Given the description of an element on the screen output the (x, y) to click on. 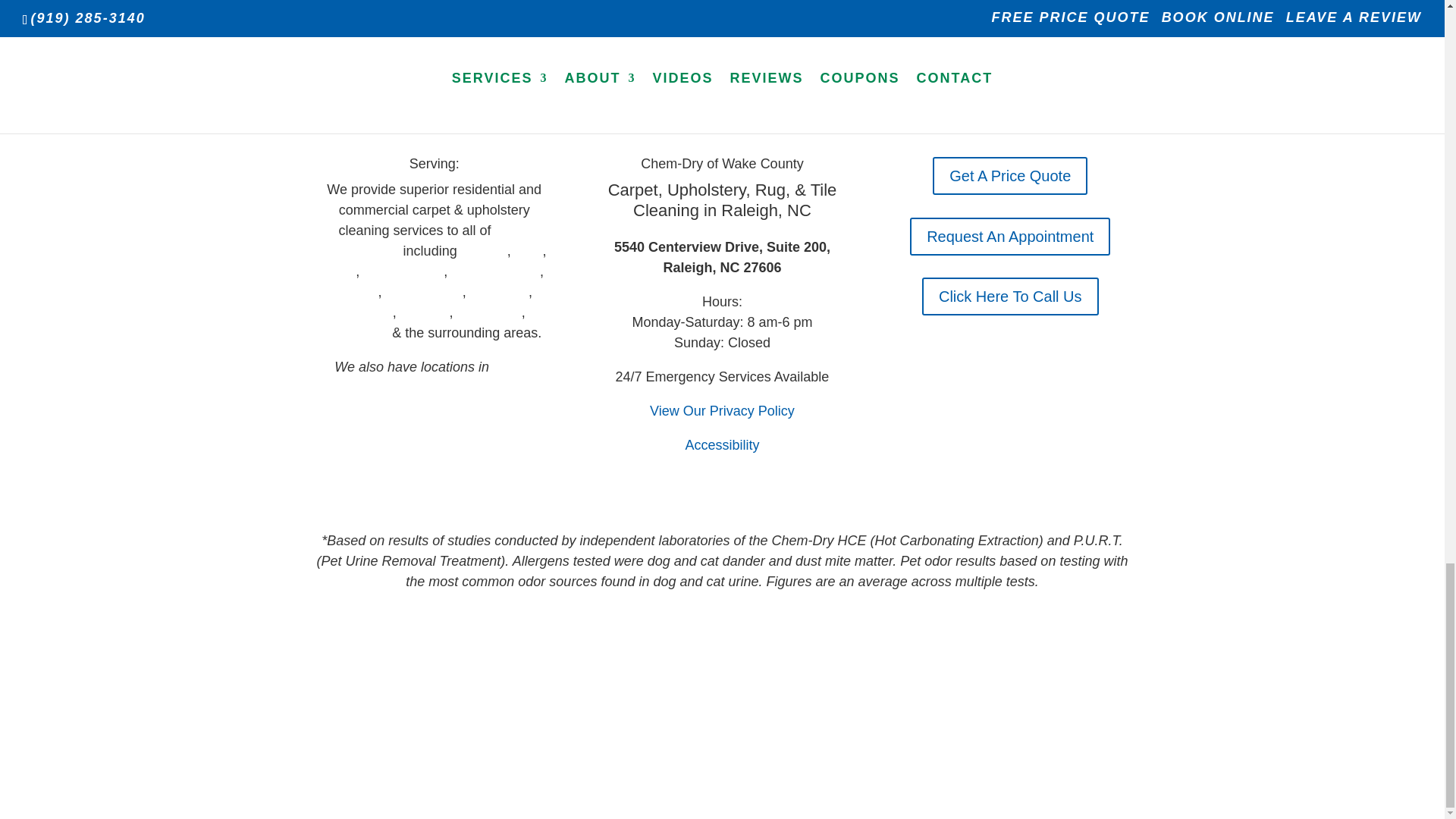
Garner (356, 291)
Cary (529, 250)
Wake Forest (423, 291)
Follow on Facebook (434, 432)
Raleigh (483, 250)
Follow on Google (403, 432)
Holly Springs (403, 271)
Fuquay-Varina (495, 271)
Rolesville (499, 291)
Follow on Pinterest (464, 432)
Wake County, NC, (425, 240)
Apex (339, 271)
